Given the description of an element on the screen output the (x, y) to click on. 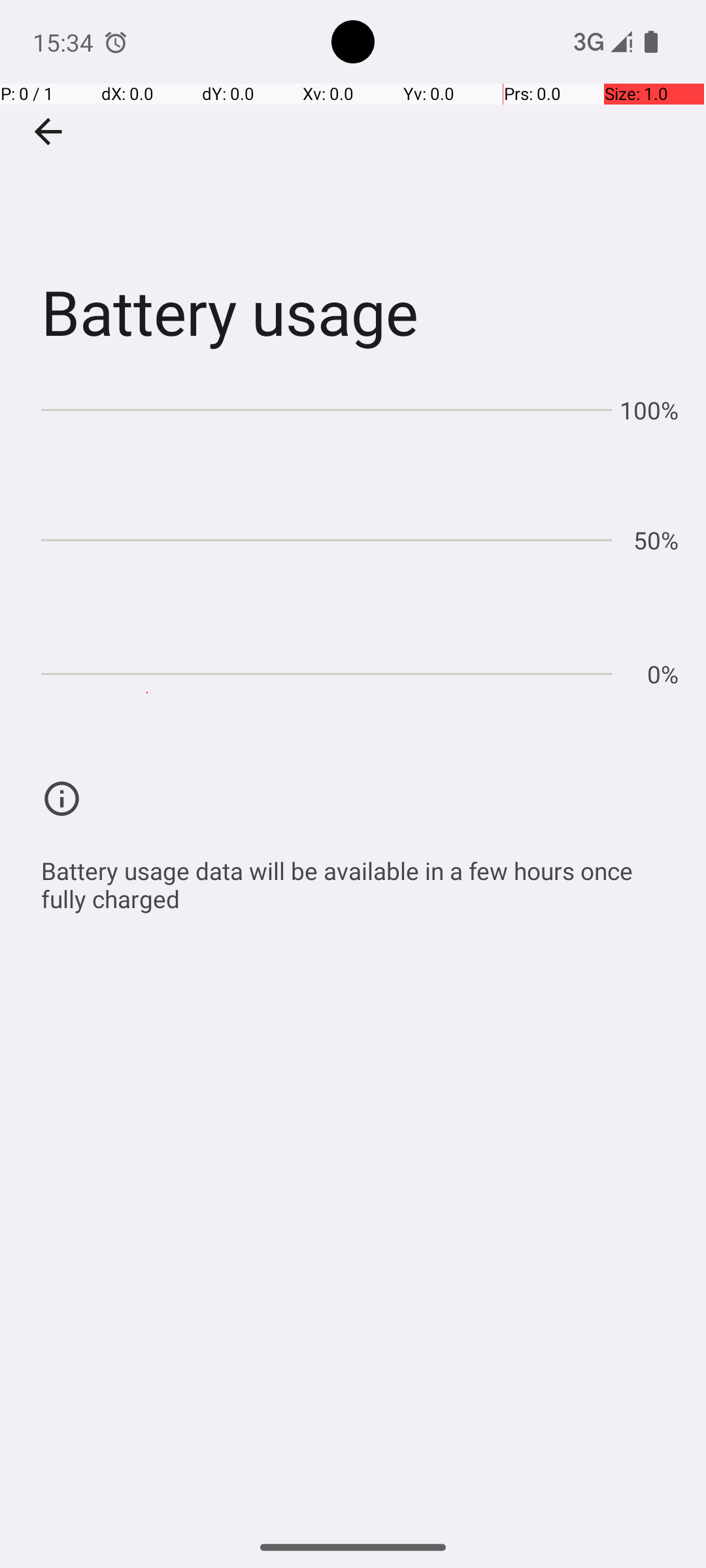
Hourly battery usage chart Element type: android.widget.ImageView (359, 536)
Battery usage data will be available in a few hours once fully charged Element type: android.widget.TextView (359, 877)
